Given the description of an element on the screen output the (x, y) to click on. 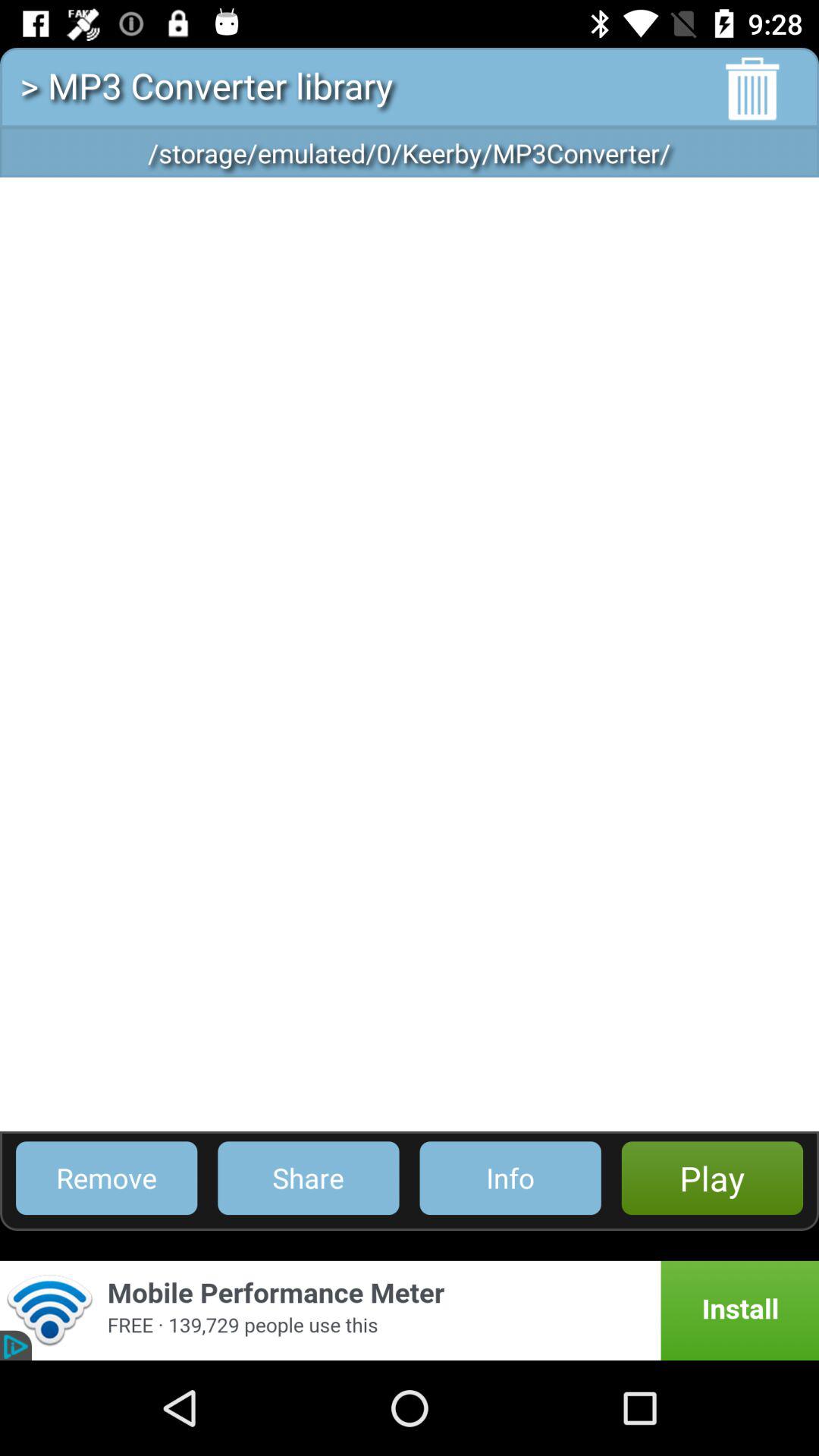
select the icon to the right of the > mp3 converter library icon (752, 89)
